Given the description of an element on the screen output the (x, y) to click on. 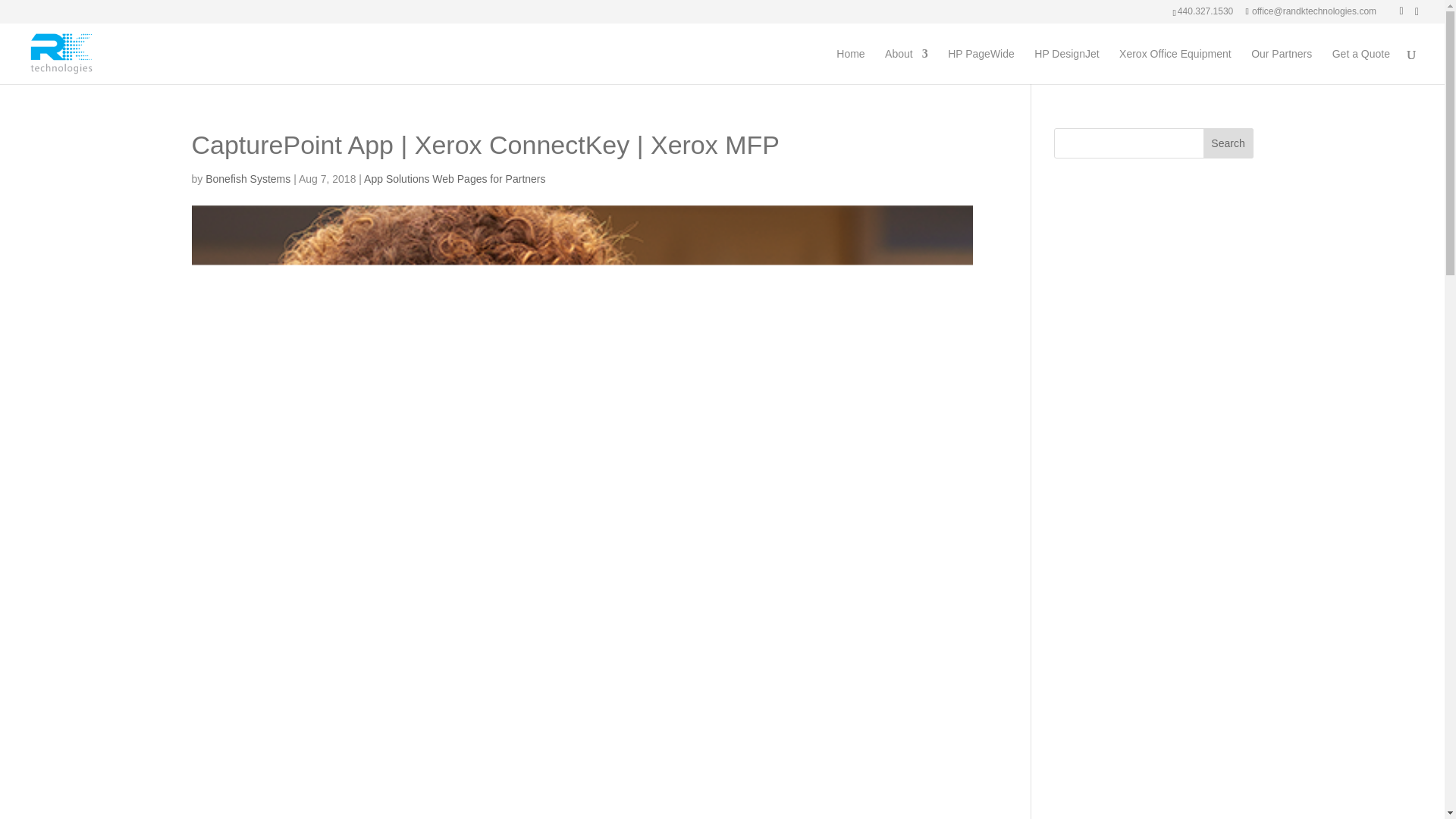
Search (1228, 142)
Our Partners (1280, 66)
HP PageWide (980, 66)
HP DesignJet (1066, 66)
Bonefish Systems (247, 178)
Search (1228, 142)
Xerox Office Equipment (1175, 66)
App Solutions Web Pages for Partners (454, 178)
Get a Quote (1361, 66)
About (906, 66)
